Given the description of an element on the screen output the (x, y) to click on. 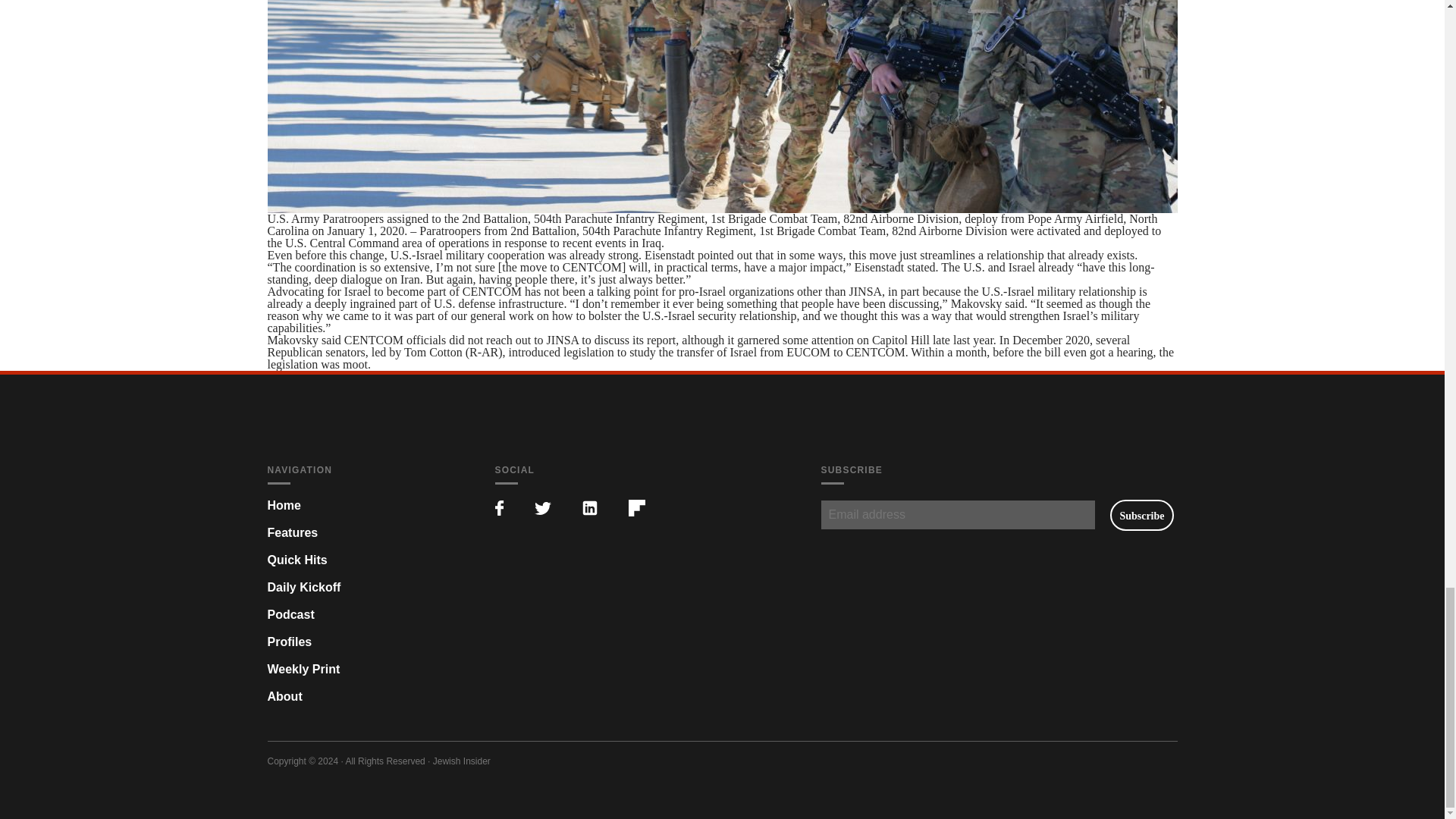
Daily Kickoff (303, 586)
Podcast (290, 614)
Features (291, 532)
introduced (534, 351)
Profiles (288, 641)
Quick Hits (296, 559)
Home (282, 504)
Weekly Print (302, 668)
